Given the description of an element on the screen output the (x, y) to click on. 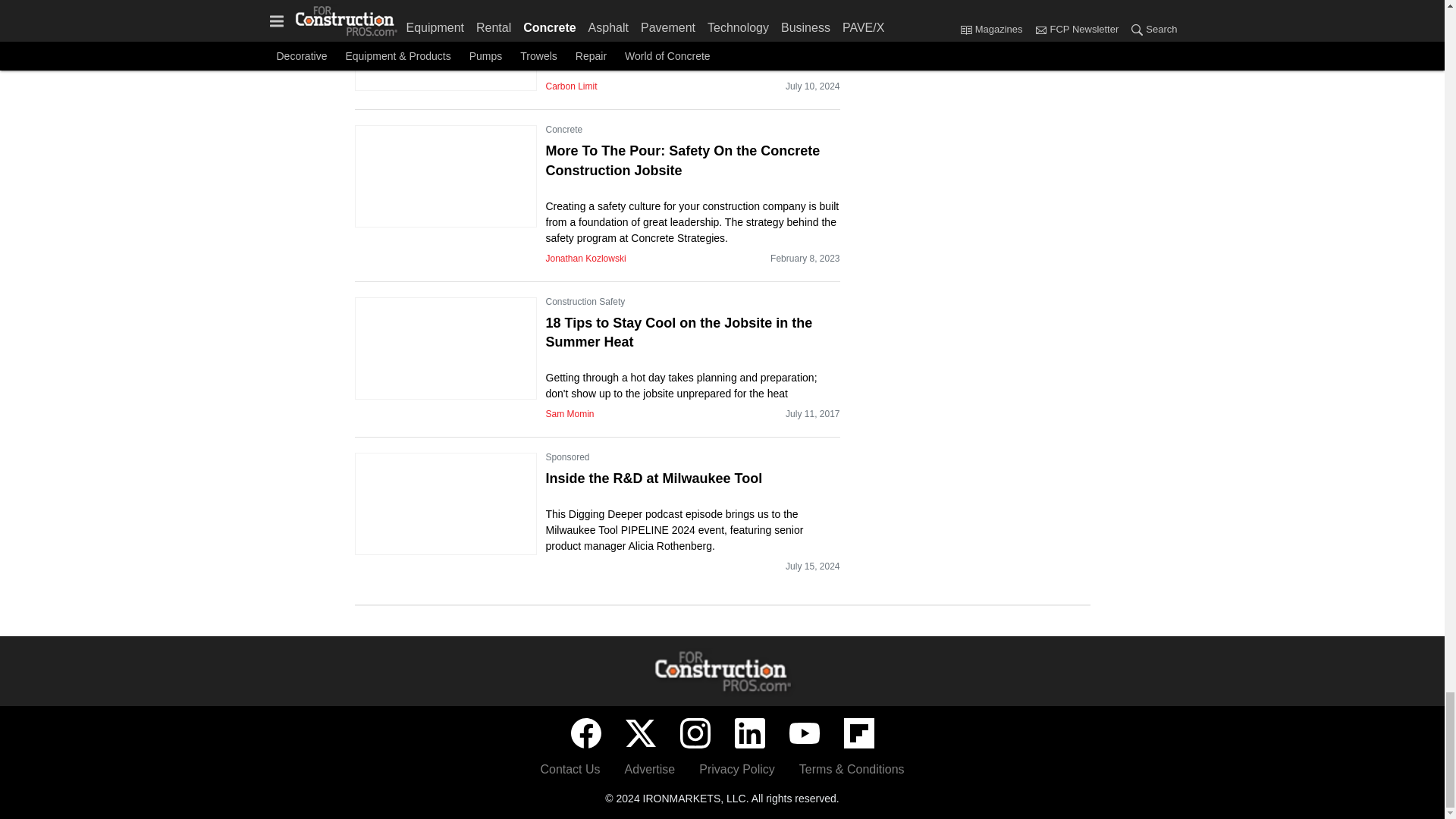
Twitter X icon (639, 733)
Flipboard icon (858, 733)
YouTube icon (803, 733)
Instagram icon (694, 733)
LinkedIn icon (748, 733)
Facebook icon (584, 733)
